Given the description of an element on the screen output the (x, y) to click on. 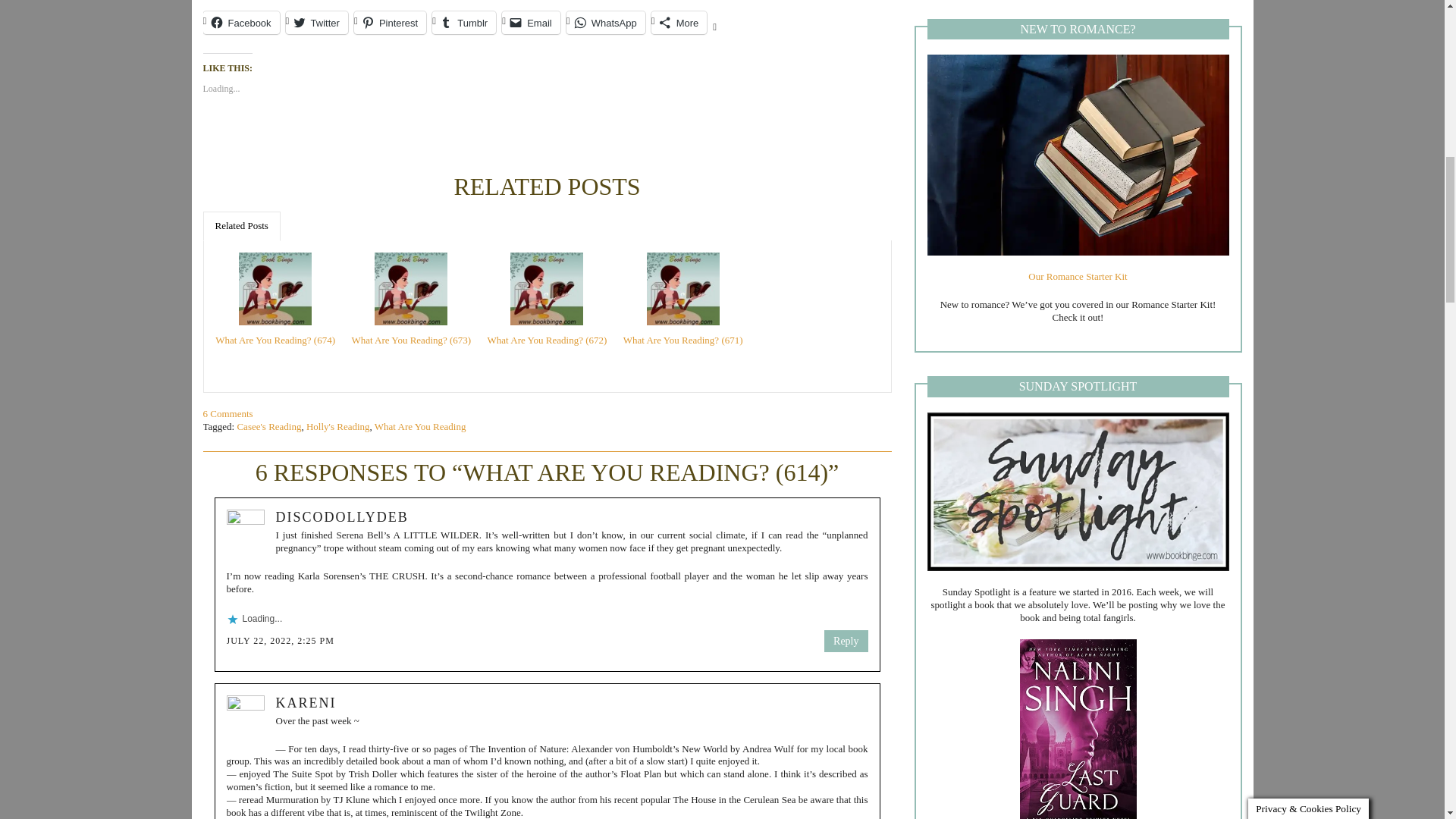
Click to share on Twitter (316, 22)
Click to share on Facebook (241, 22)
Click to share on Pinterest (389, 22)
Click to share on Tumblr (464, 22)
Like or Reblog (547, 145)
Click to email a link to a friend (531, 22)
Click to share on WhatsApp (605, 22)
